Given the description of an element on the screen output the (x, y) to click on. 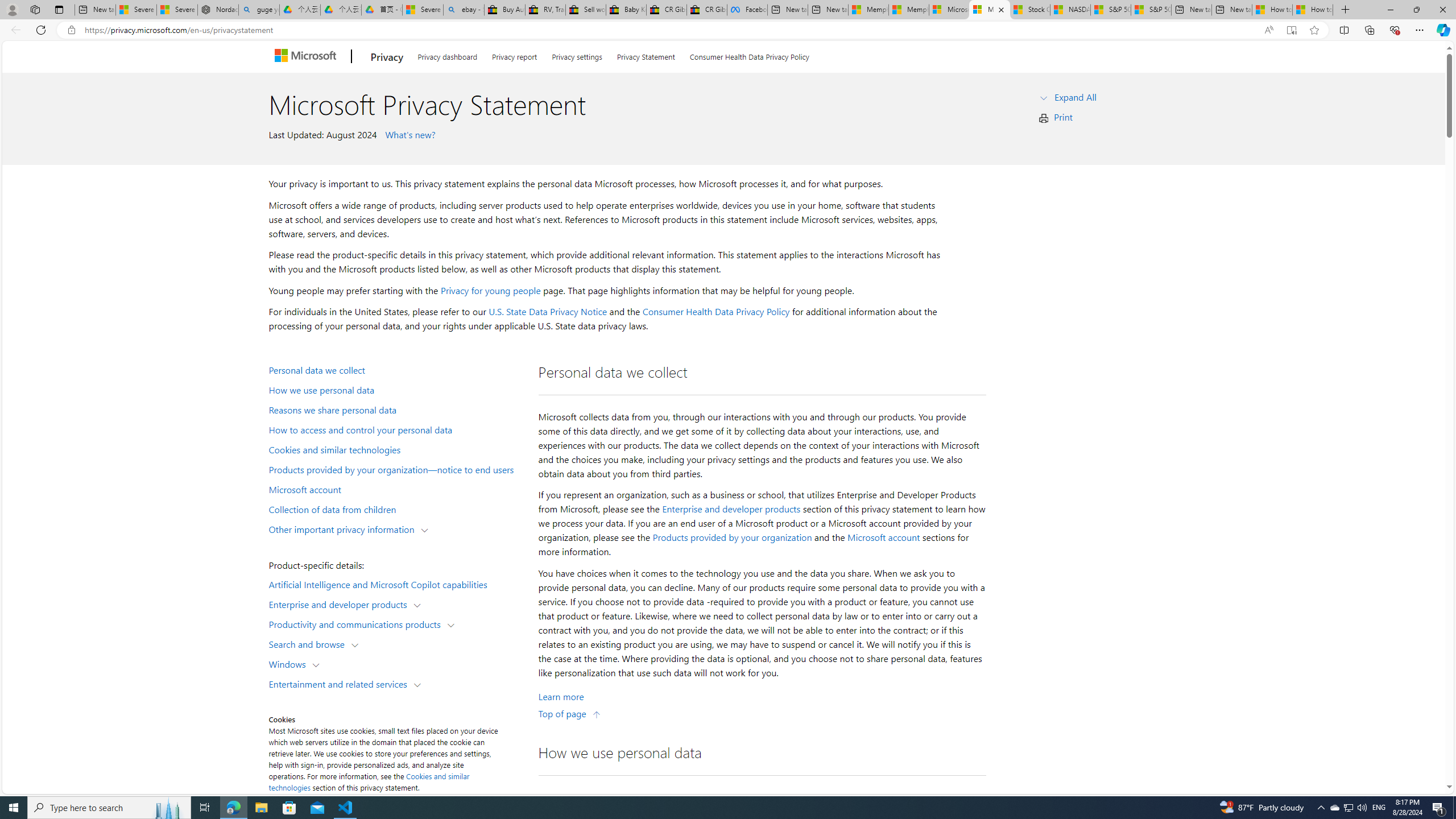
How to access and control your personal data (395, 428)
Privacy (386, 56)
Consumer Health Data Privacy Policy (748, 54)
Enter Immersive Reader (F9) (1291, 29)
